Given the description of an element on the screen output the (x, y) to click on. 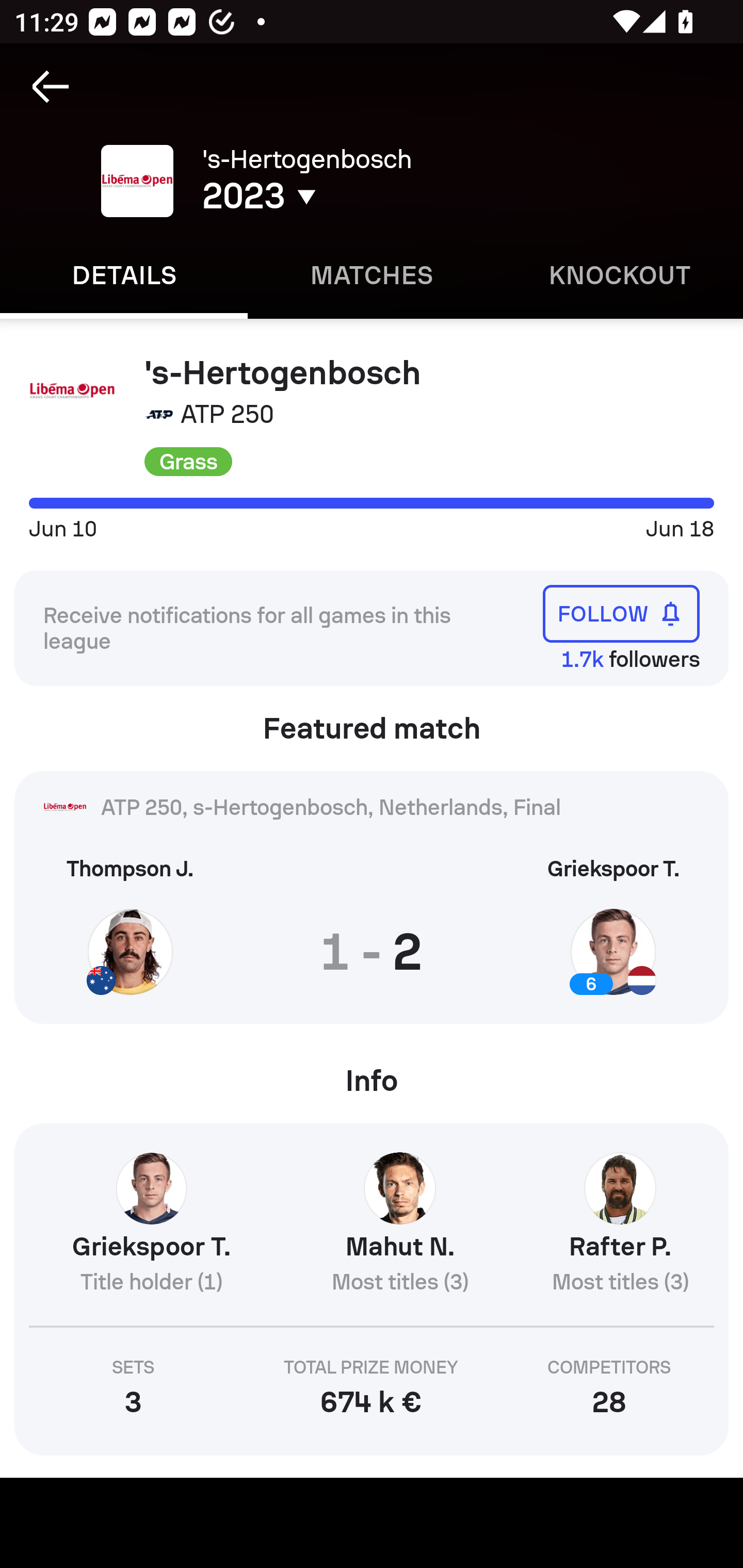
Navigate up (50, 86)
2023 (350, 195)
Matches MATCHES (371, 275)
Knockout KNOCKOUT (619, 275)
FOLLOW (621, 613)
Griekspoor T. Title holder (1) (151, 1231)
Mahut N. Most titles (3) (399, 1231)
Rafter P. Most titles (3) (619, 1231)
